Given the description of an element on the screen output the (x, y) to click on. 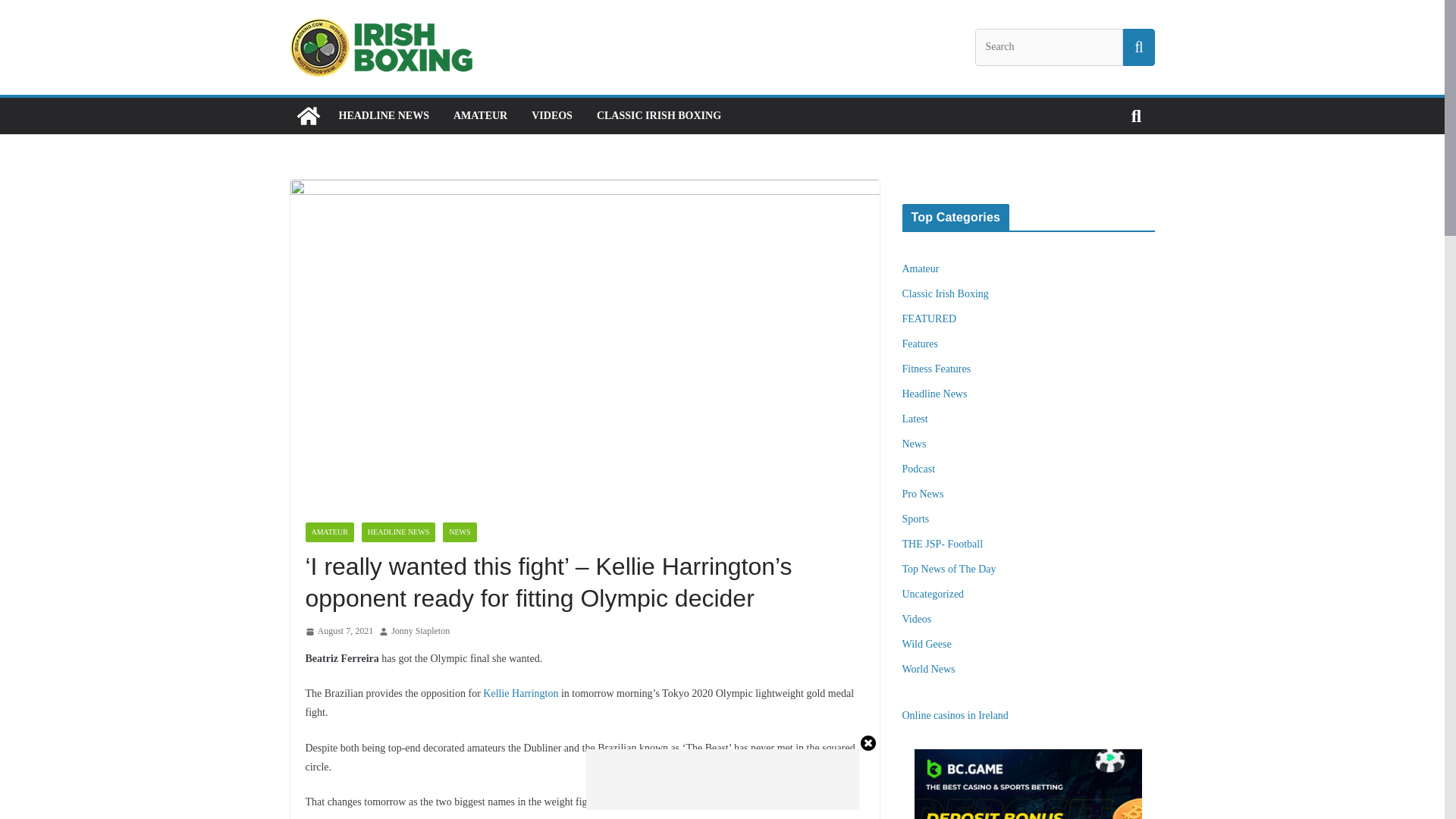
NEWS (459, 532)
Headline News (935, 393)
HEADLINE NEWS (382, 115)
CLASSIC IRISH BOXING (658, 115)
Jonny Stapleton (420, 631)
AMATEUR (328, 532)
News (914, 443)
Features (919, 343)
Kellie Harrington (520, 693)
AMATEUR (479, 115)
VIDEOS (551, 115)
Classic Irish Boxing (945, 293)
Irish Boxing (307, 115)
Latest (915, 419)
FEATURED (929, 318)
